Given the description of an element on the screen output the (x, y) to click on. 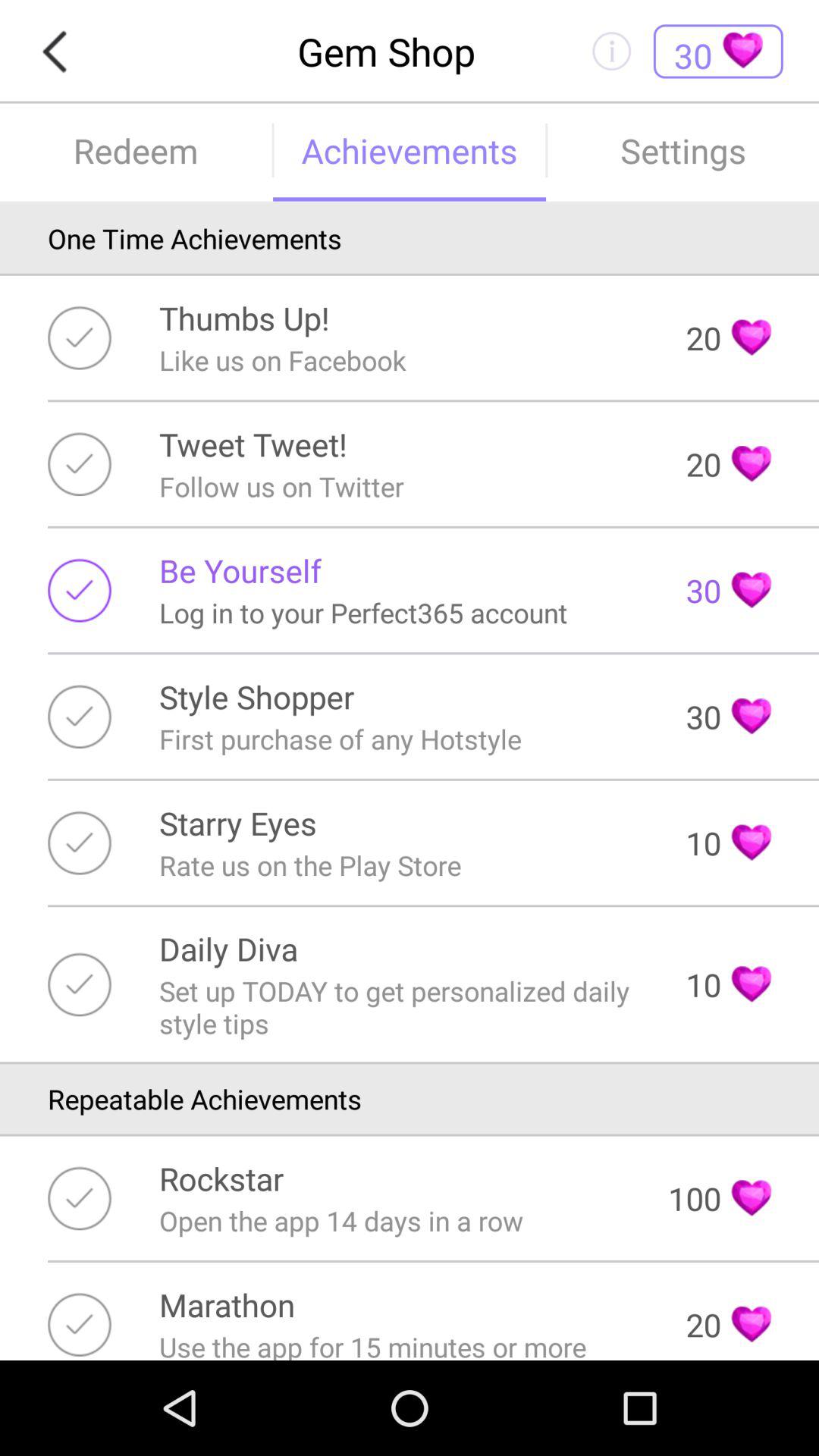
turn off the item next to the 30 item (340, 738)
